Given the description of an element on the screen output the (x, y) to click on. 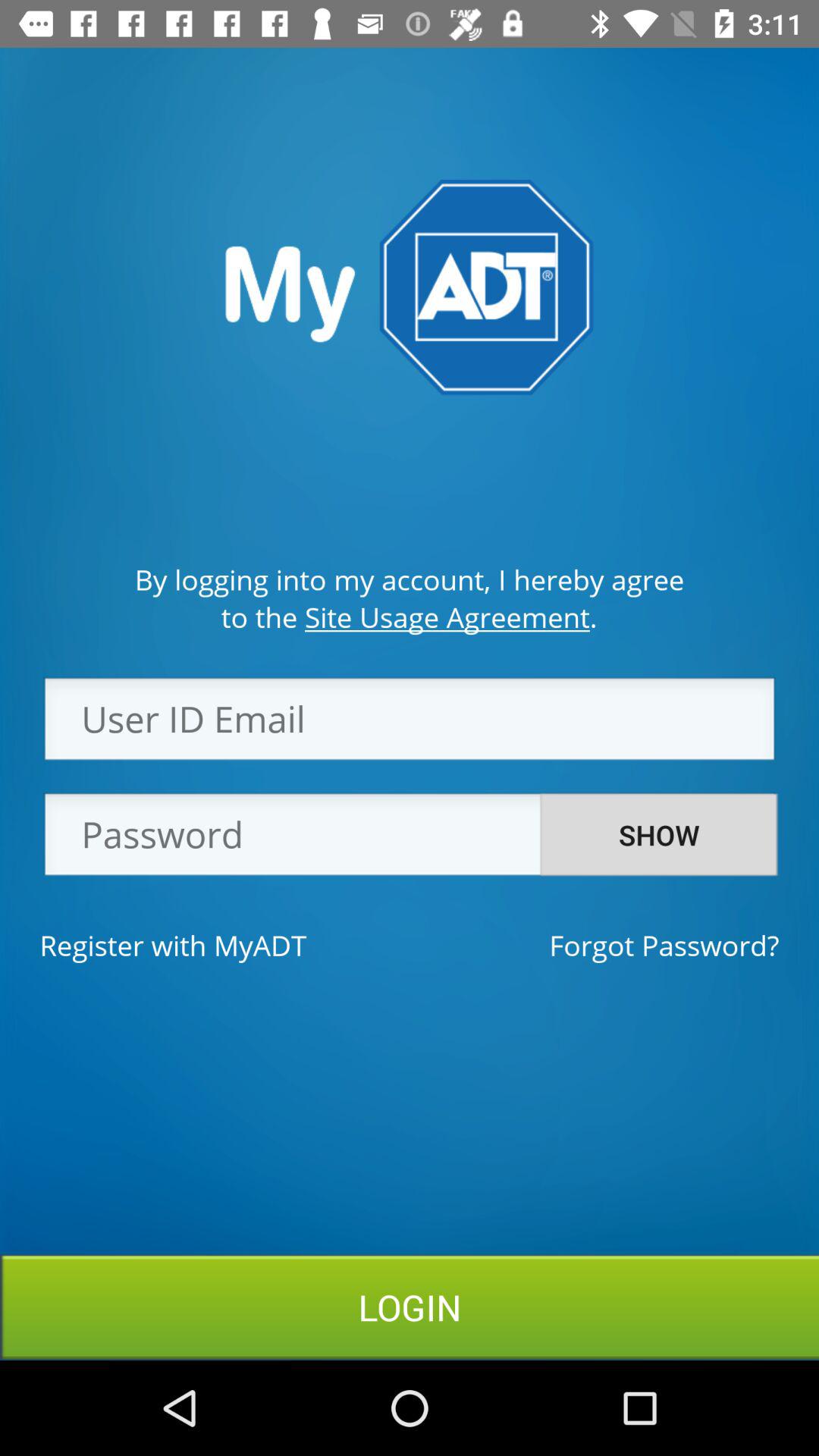
click the icon next to register with myadt (664, 945)
